Given the description of an element on the screen output the (x, y) to click on. 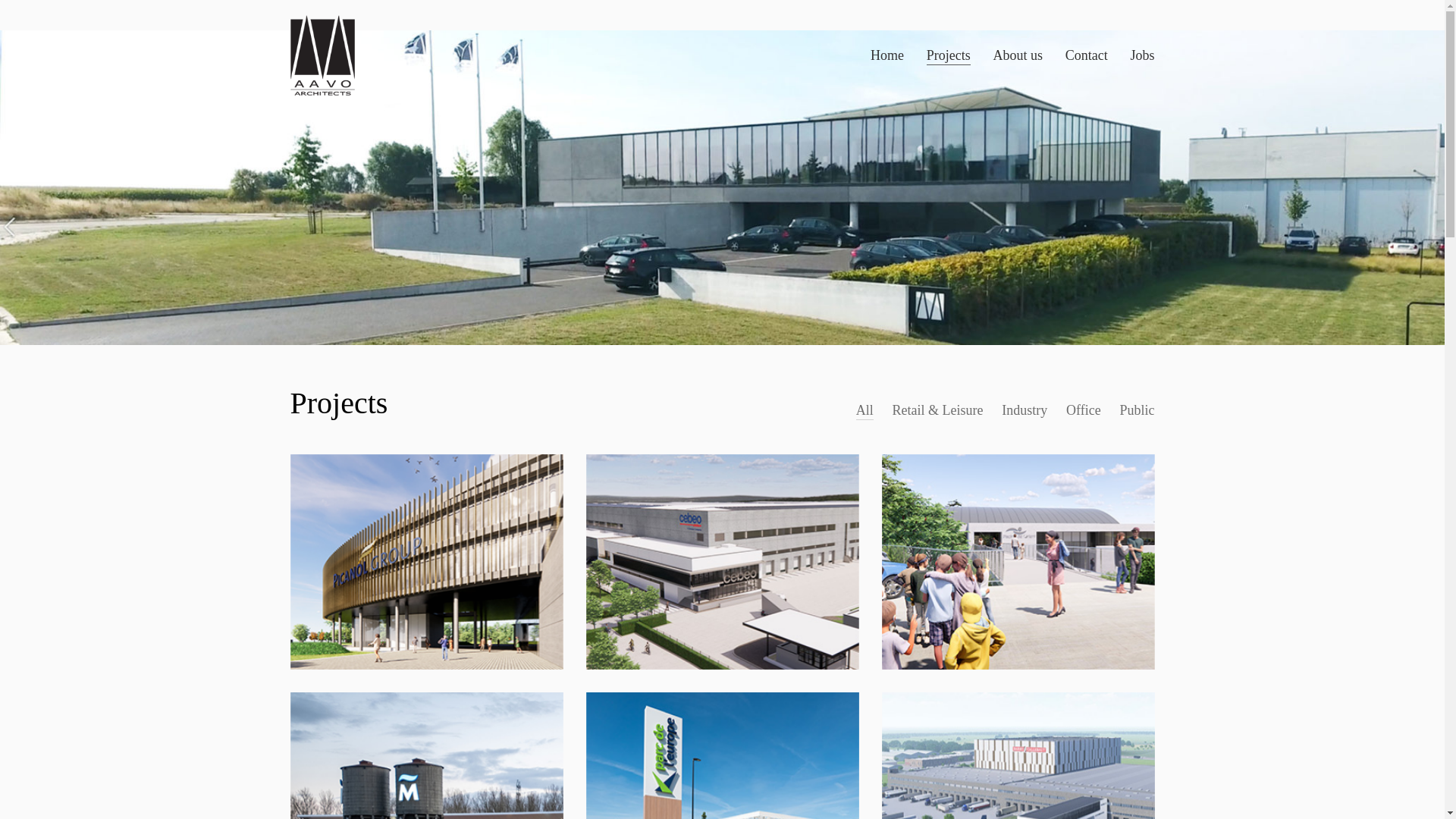
Office Element type: text (1083, 410)
Contact Element type: text (1086, 55)
Projects Element type: text (948, 55)
Public Element type: text (1136, 410)
All Element type: text (864, 410)
Home Element type: text (886, 55)
About us Element type: text (1017, 55)
Jobs Element type: text (1141, 55)
Industry Element type: text (1024, 410)
Retail & Leisure Element type: text (937, 410)
